Given the description of an element on the screen output the (x, y) to click on. 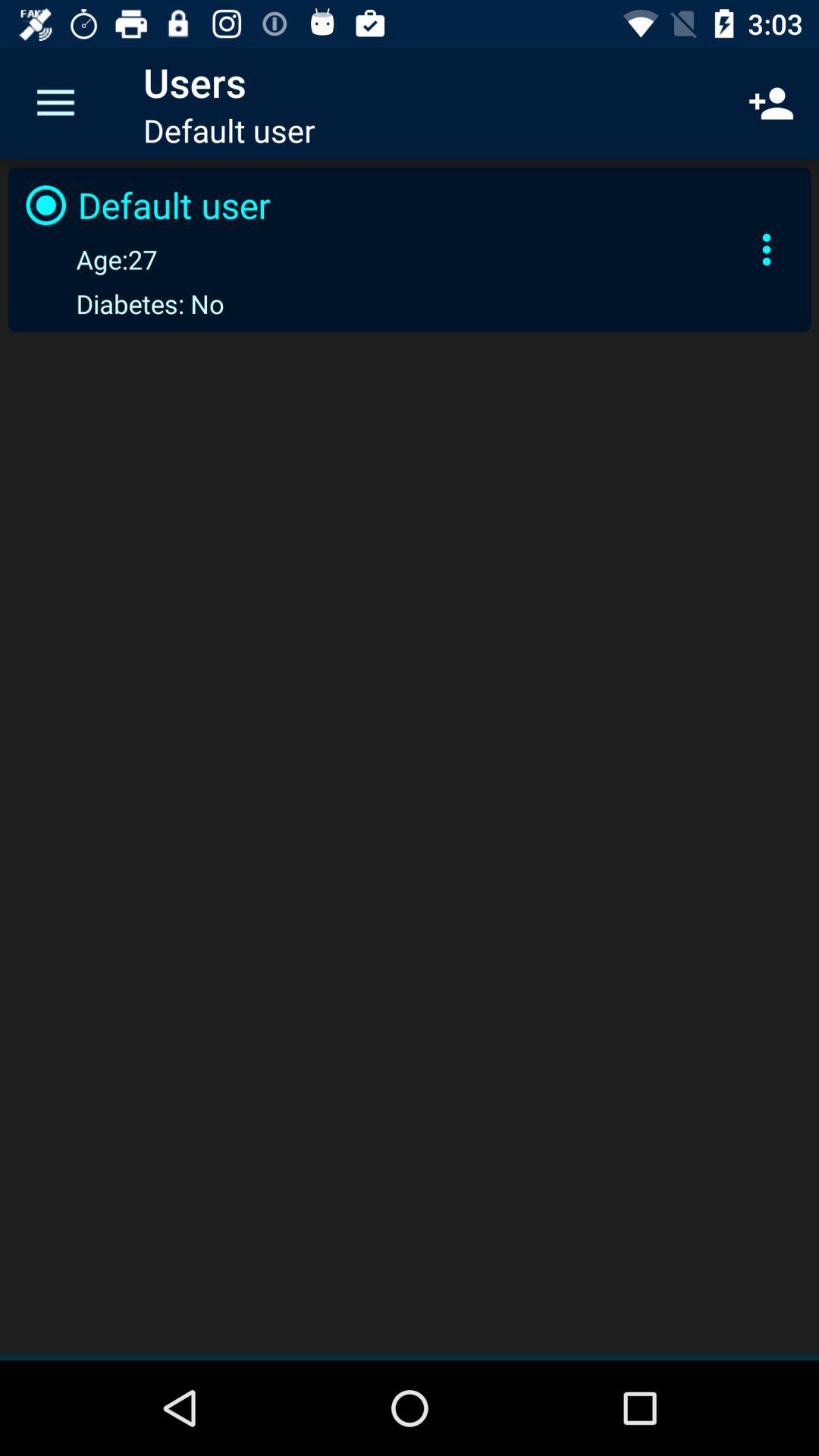
turn off the age:27 (87, 259)
